Given the description of an element on the screen output the (x, y) to click on. 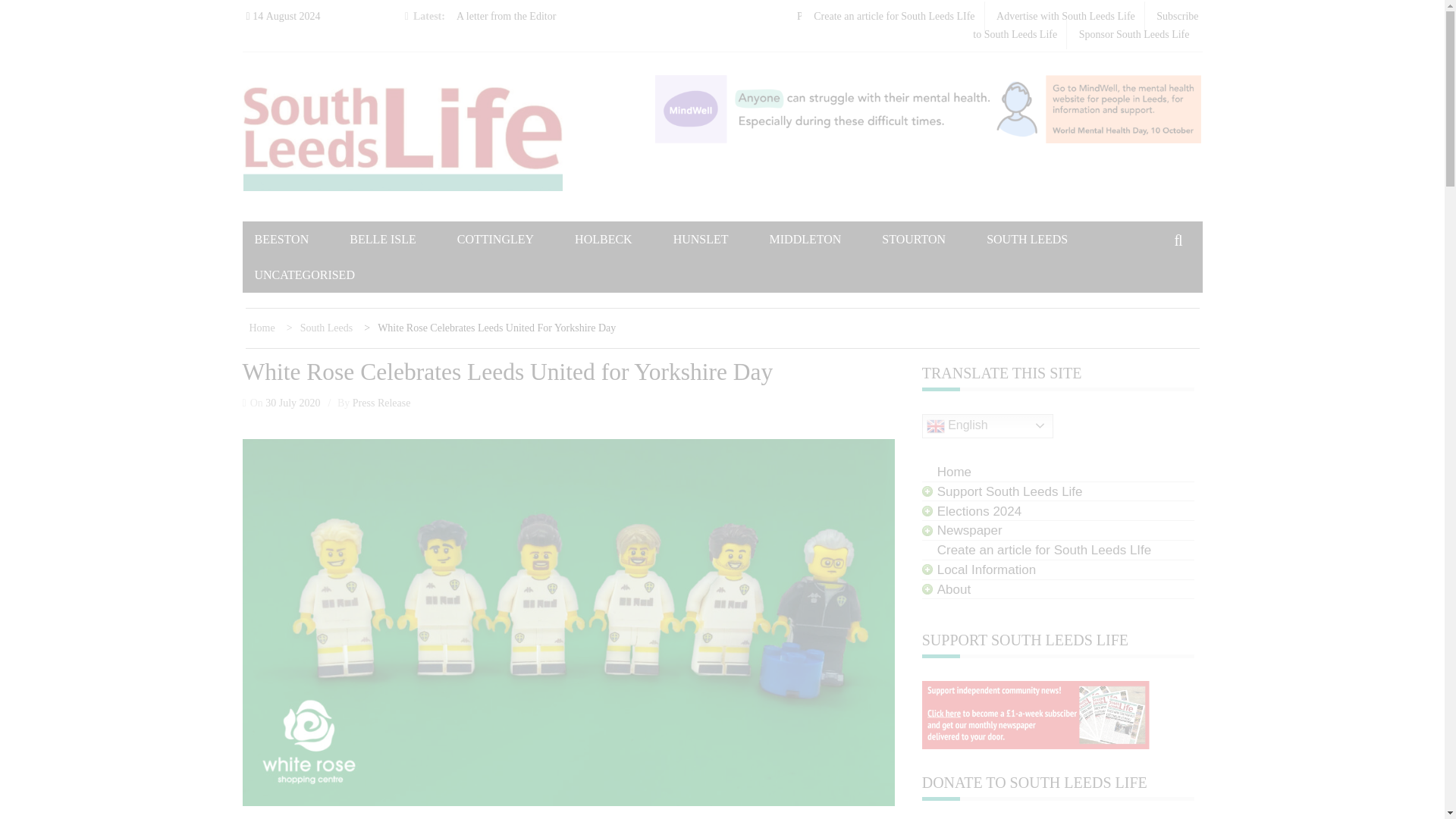
HUNSLET (719, 239)
BELLE ISLE (401, 239)
SOUTH LEEDS (1046, 239)
HOLBECK (622, 239)
UNCATEGORISED (323, 274)
30 July 2020 (292, 402)
Planning applications 5 August 2024 (874, 16)
South Leeds (321, 327)
A letter from the Editor (506, 16)
Create an article for South Leeds LIfe (893, 16)
